Given the description of an element on the screen output the (x, y) to click on. 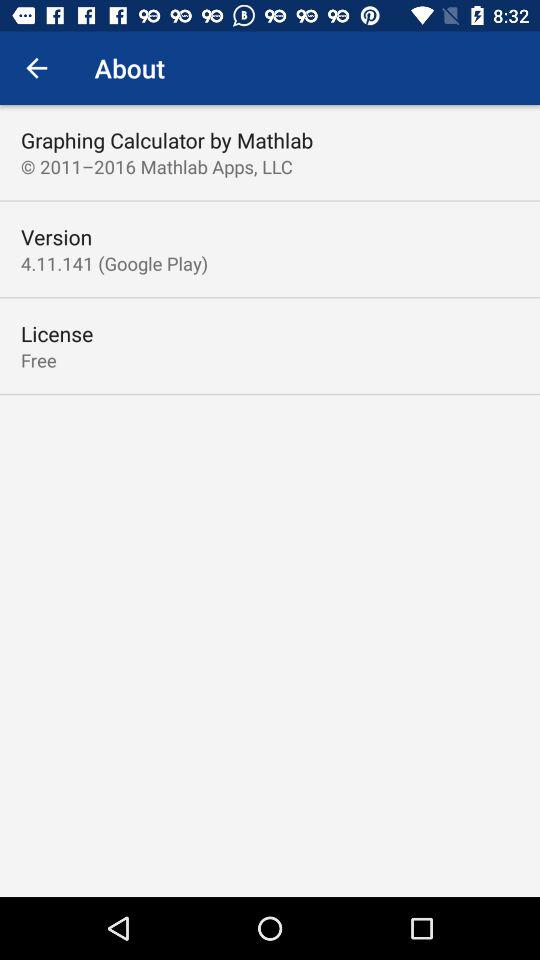
tap the icon above the graphing calculator by item (36, 68)
